Given the description of an element on the screen output the (x, y) to click on. 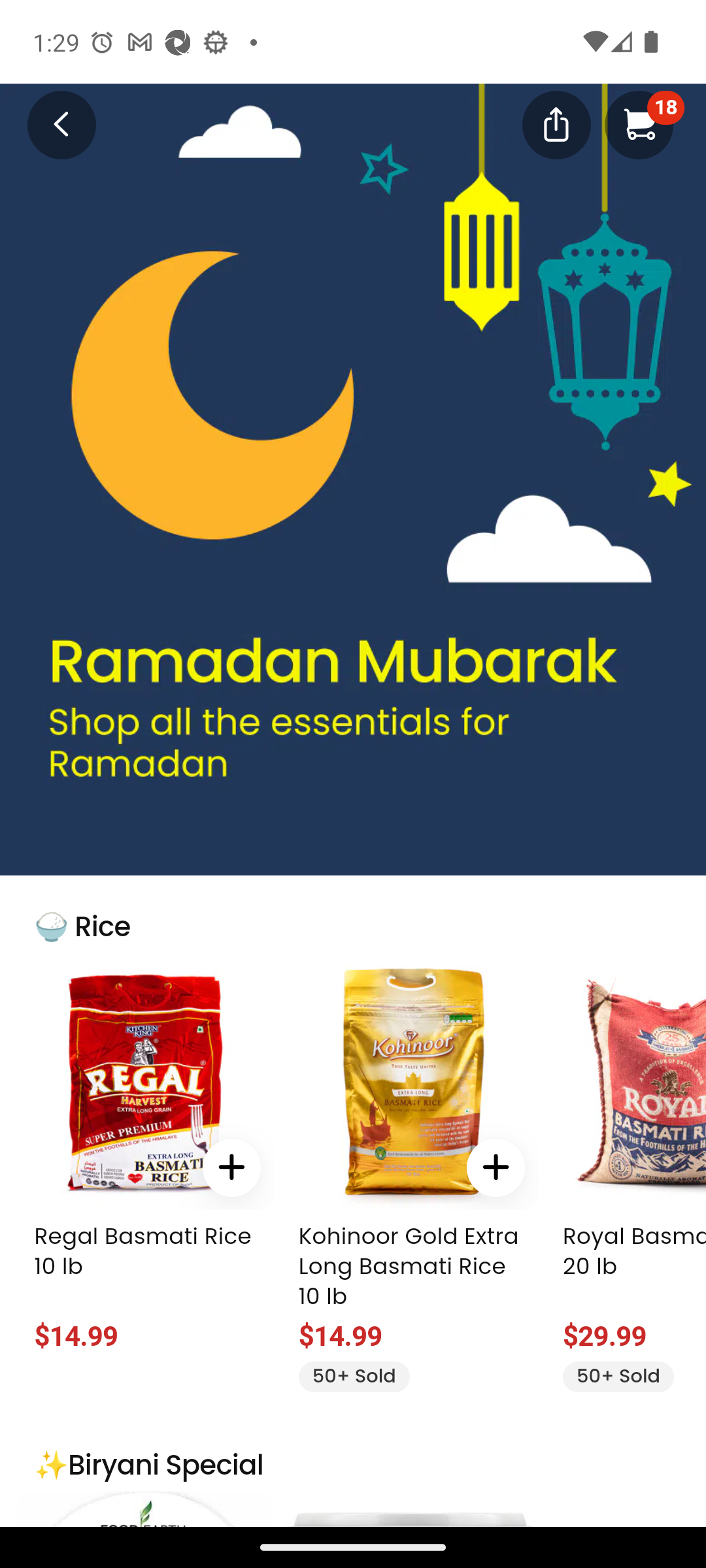
Weee! - Groceries Delivered (50, 123)
18 My cart (638, 124)
 (555, 123)
